Given the description of an element on the screen output the (x, y) to click on. 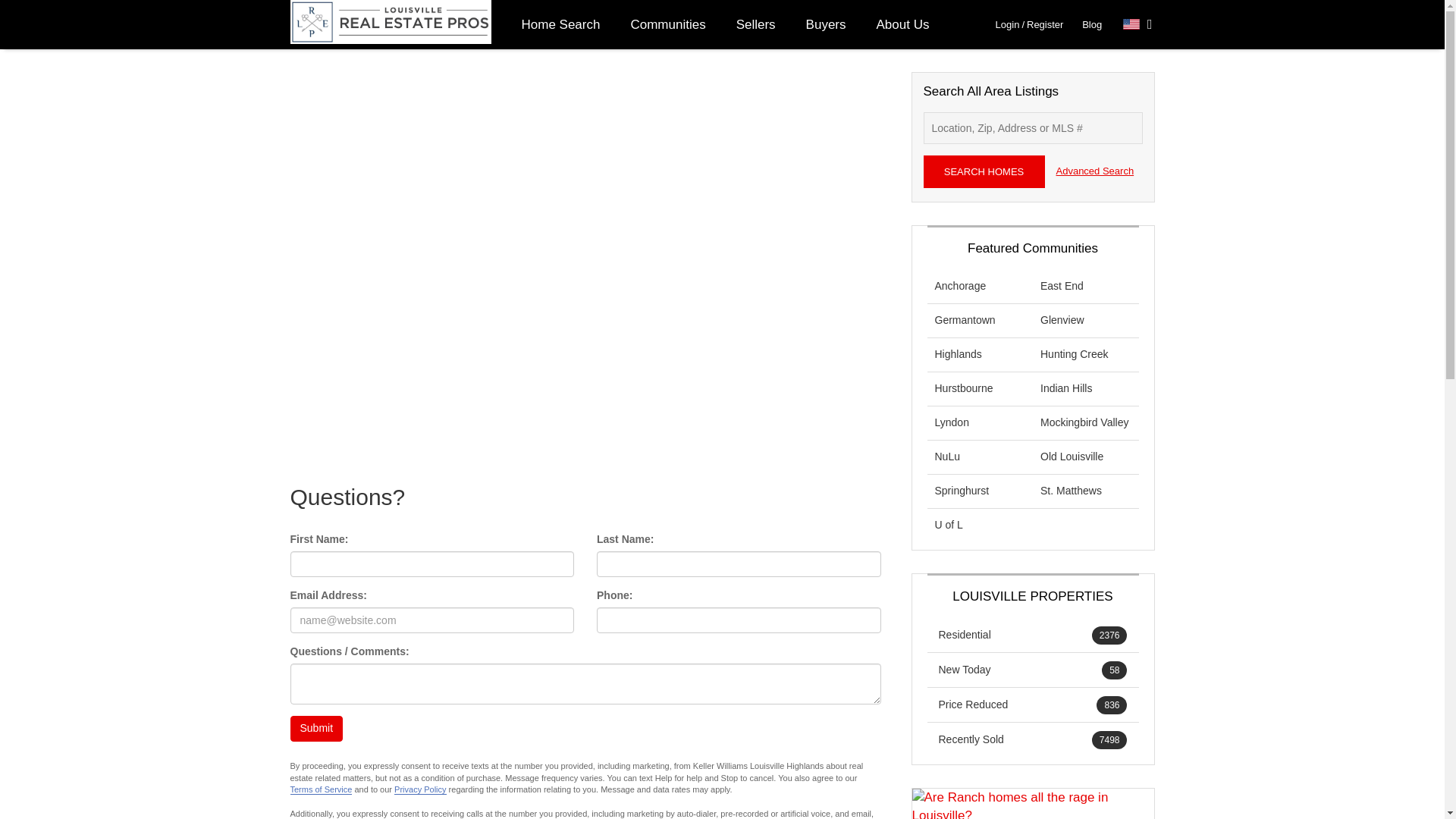
Home Search (560, 24)
Communities (667, 24)
Buyers (825, 24)
Select Language (1137, 24)
Please enter your question (584, 683)
Sellers (755, 24)
